Given the description of an element on the screen output the (x, y) to click on. 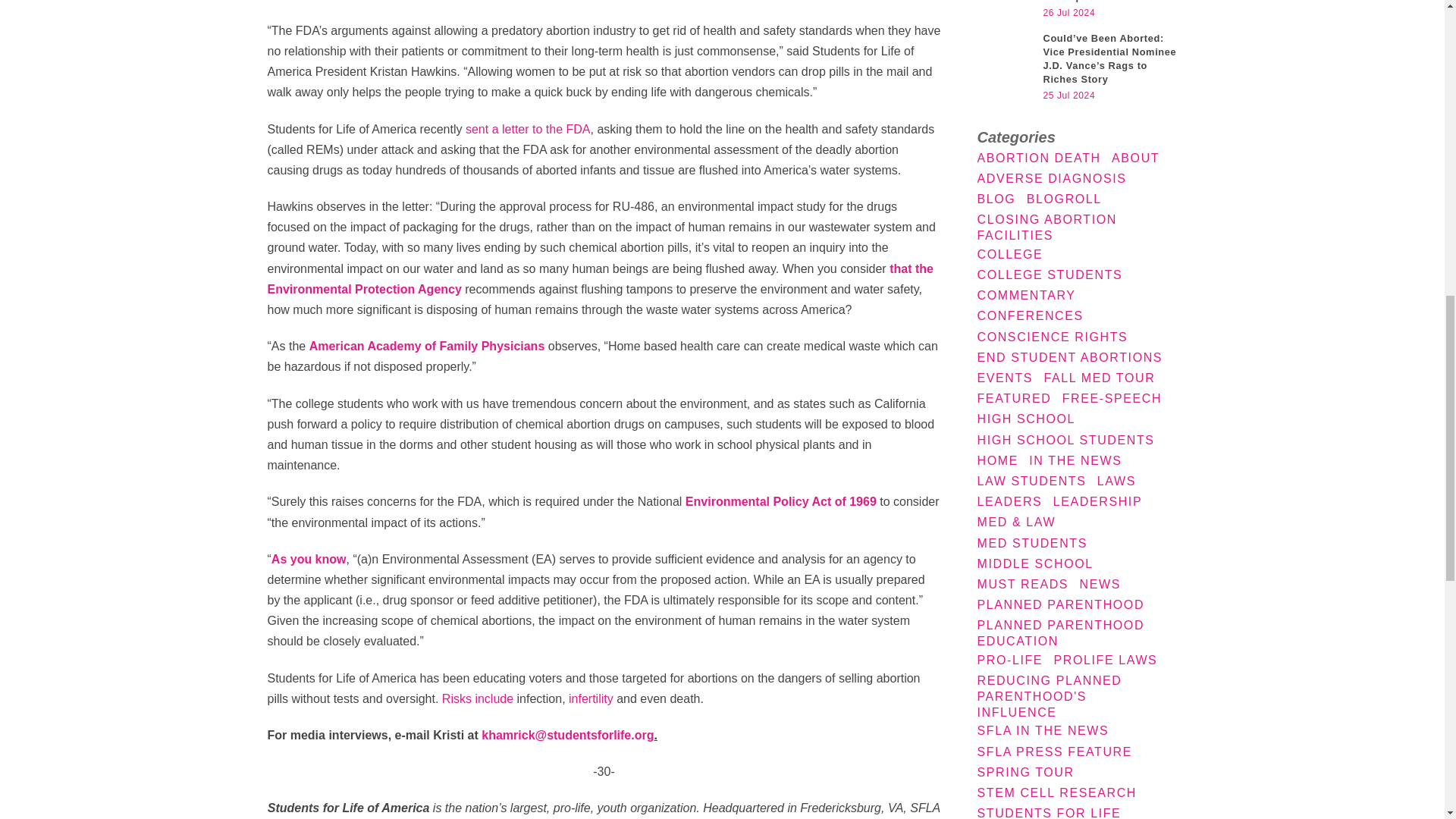
Environmental Policy Act of 1969 (780, 501)
American Academy of Family Physicians (426, 345)
sent a letter to the FDA (528, 128)
that the Environmental Protection Agency (599, 278)
